Given the description of an element on the screen output the (x, y) to click on. 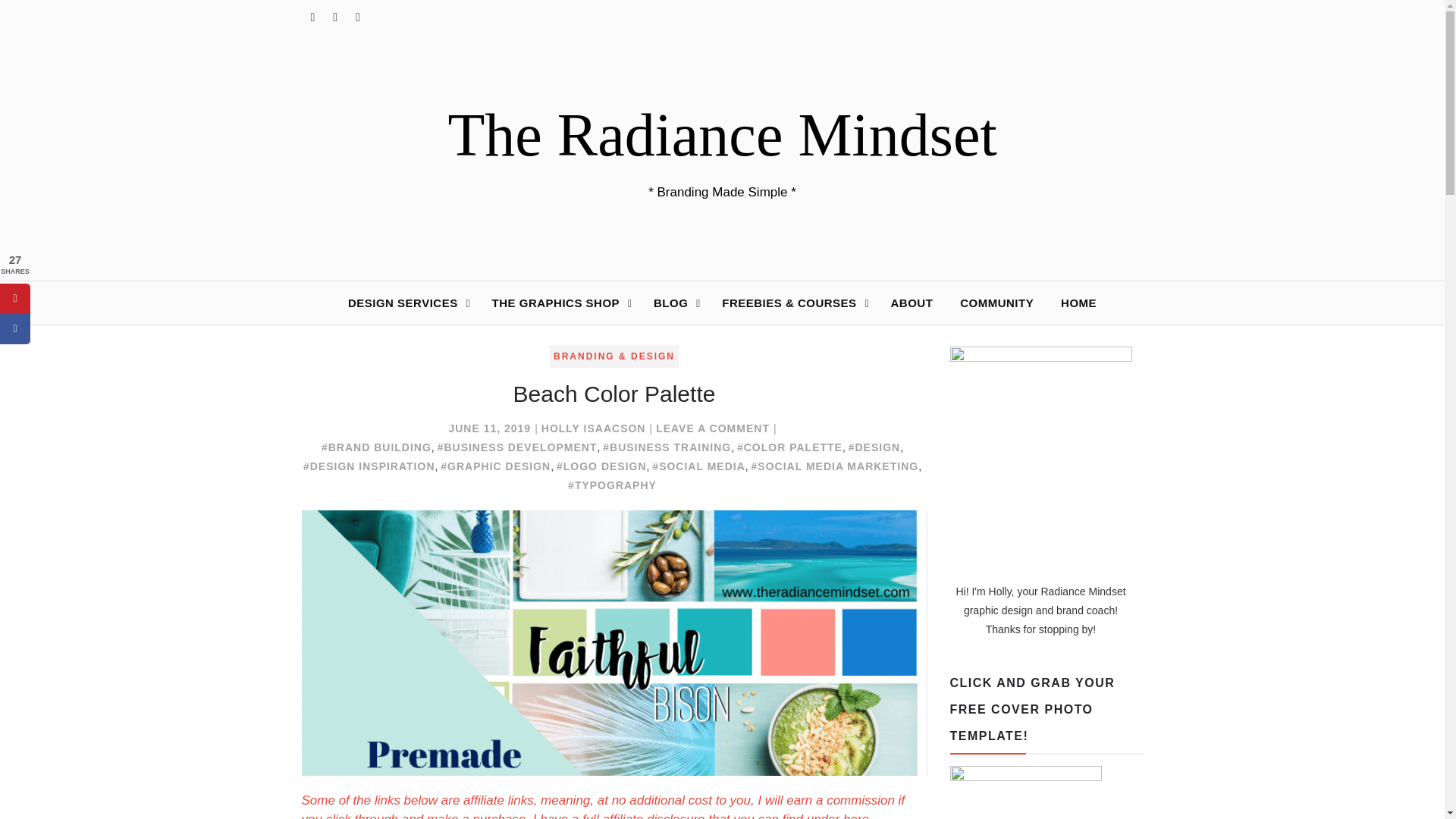
Share on Facebook (713, 428)
BLOG (15, 328)
DESIGN SERVICES (674, 302)
Beach Color Palette (406, 302)
Search (614, 393)
JUNE 11, 2019 (46, 31)
The Radiance Mindset (489, 428)
ABOUT (720, 134)
HOLLY ISAACSON (910, 302)
